Given the description of an element on the screen output the (x, y) to click on. 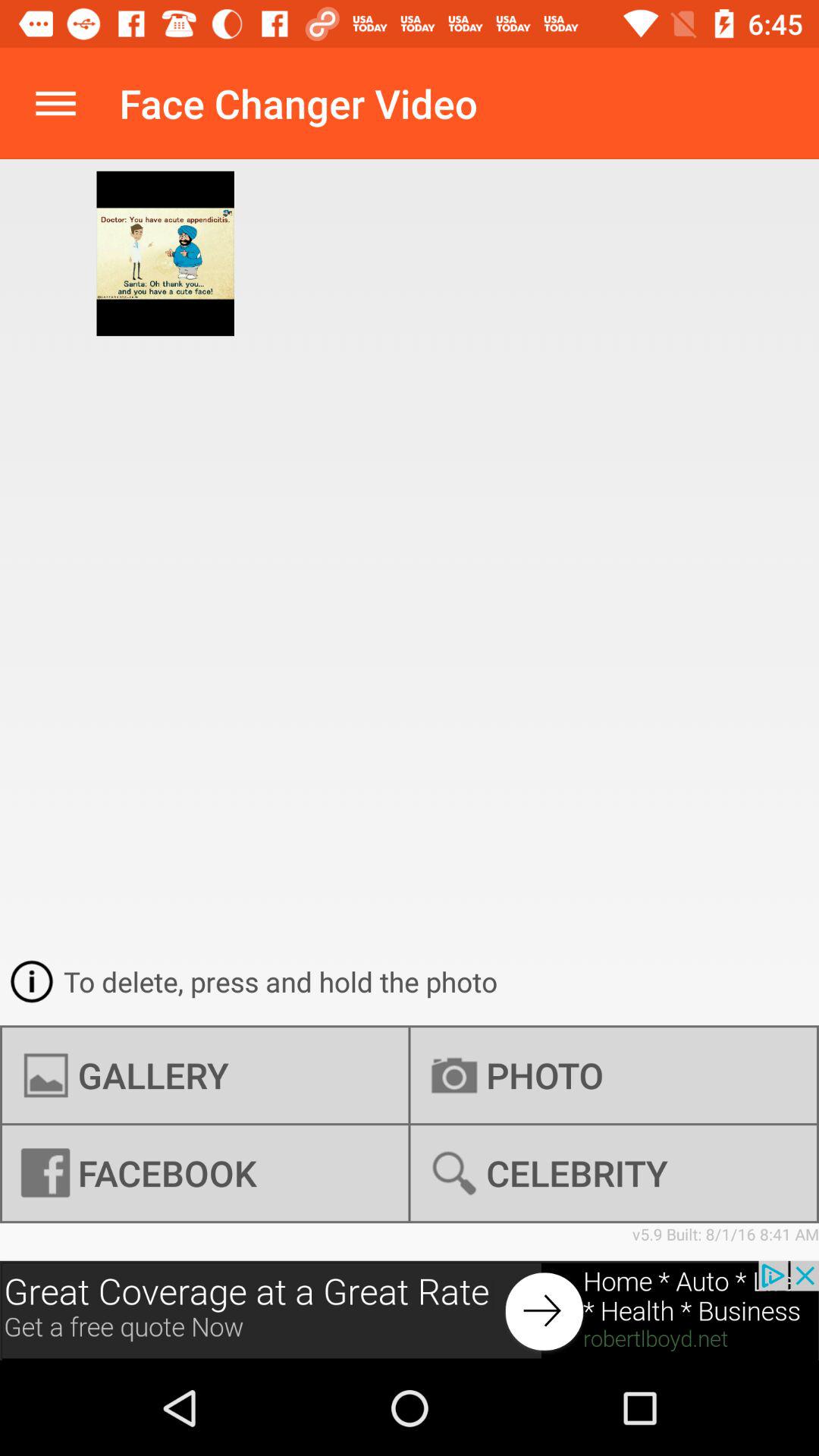
open menu (55, 103)
